Given the description of an element on the screen output the (x, y) to click on. 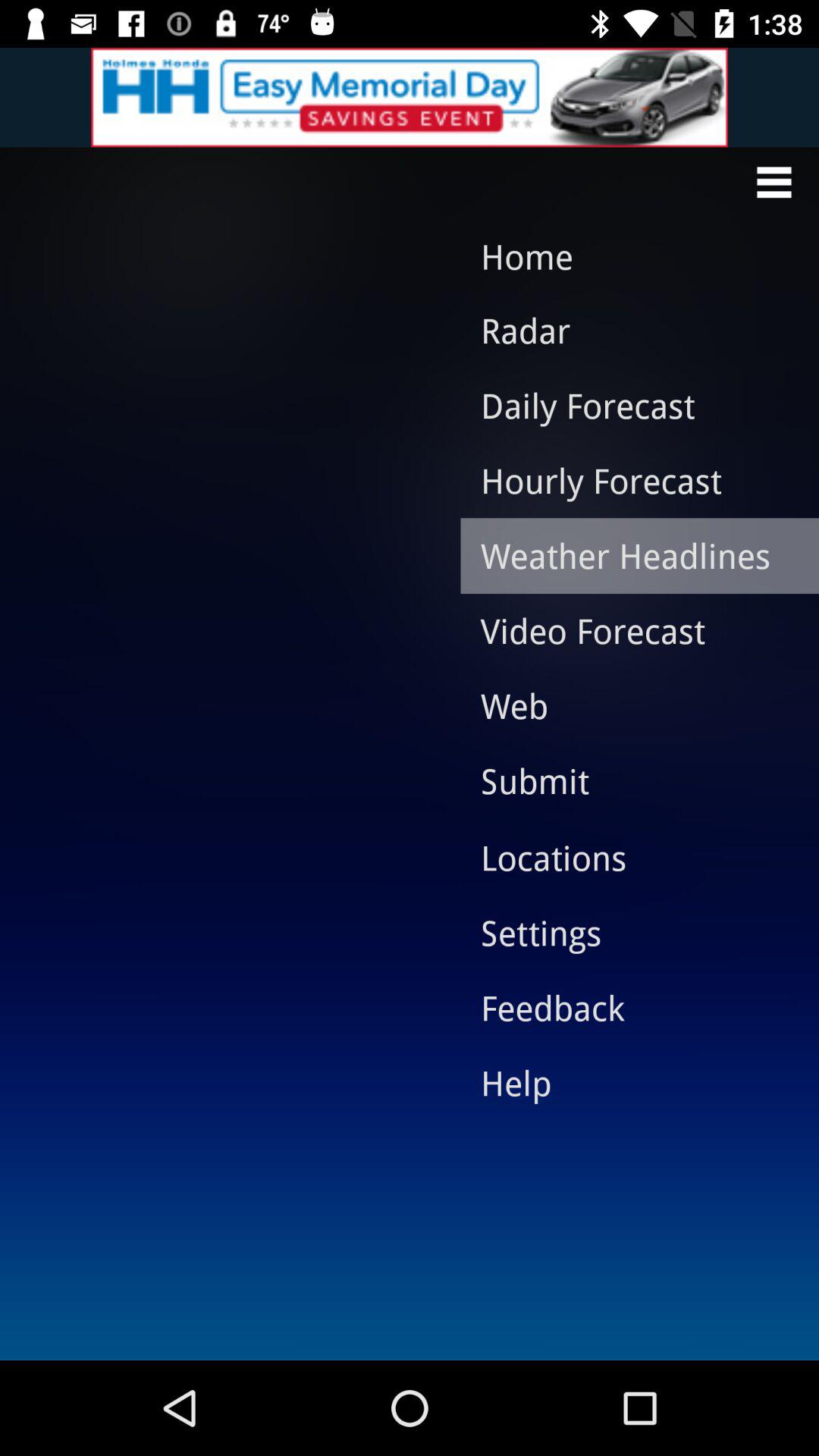
click the icon below the daily forecast (627, 480)
